Given the description of an element on the screen output the (x, y) to click on. 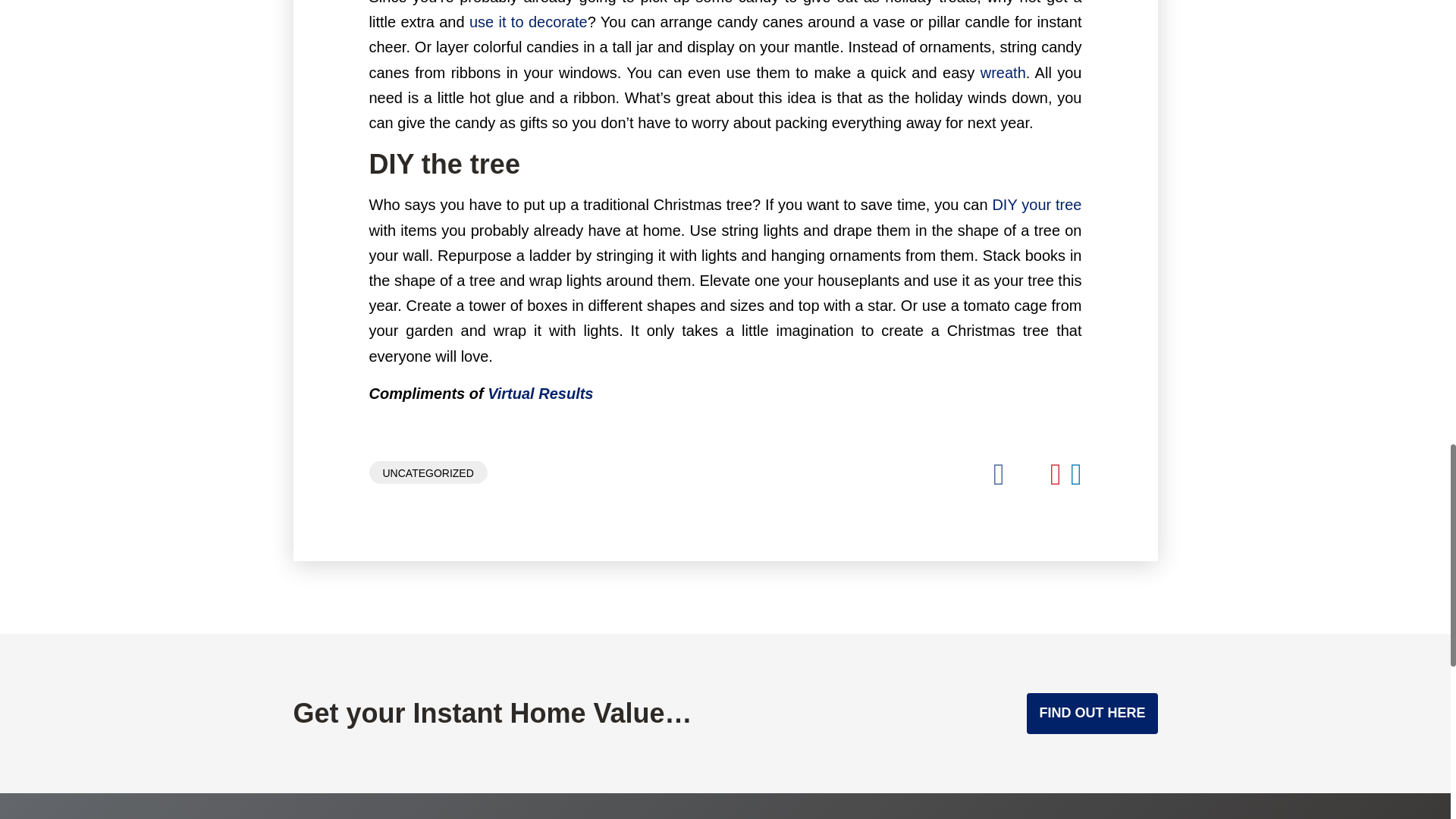
UNCATEGORIZED (427, 472)
use it to decorate (528, 21)
wreath (1002, 72)
FIND OUT HERE (1091, 712)
DIY your tree (1036, 204)
Virtual Results (539, 393)
